Given the description of an element on the screen output the (x, y) to click on. 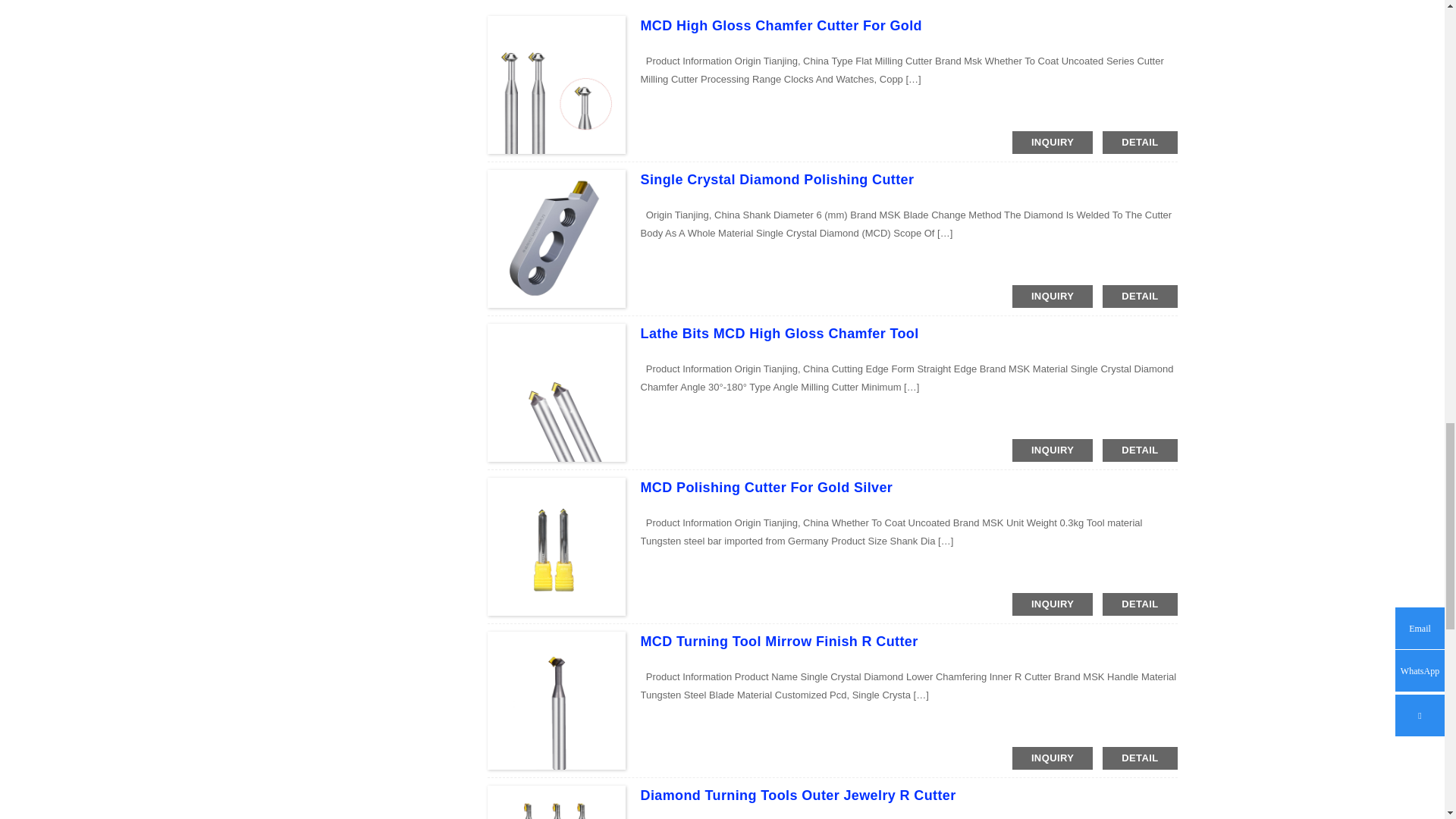
MCD Polishing Cutter for Gold Silver (766, 487)
INQUIRY (1052, 296)
Lathe Bits MCD High Gloss Chamfer Tool (779, 333)
INQUIRY (1052, 757)
INQUIRY (1052, 449)
MCD Polishing Cutter For Gold Silver (766, 487)
Single Crystal Diamond Polishing Cutter (777, 179)
DETAIL (1139, 296)
INQUIRY (1052, 603)
MCD High Gloss Chamfer Cutter For Gold (780, 25)
MCD High Gloss Chamfer Cutter For Gold (780, 25)
DETAIL (1139, 142)
DETAIL (1139, 449)
Lathe Bits MCD High Gloss Chamfer Tool (779, 333)
INQUIRY (1052, 142)
